Given the description of an element on the screen output the (x, y) to click on. 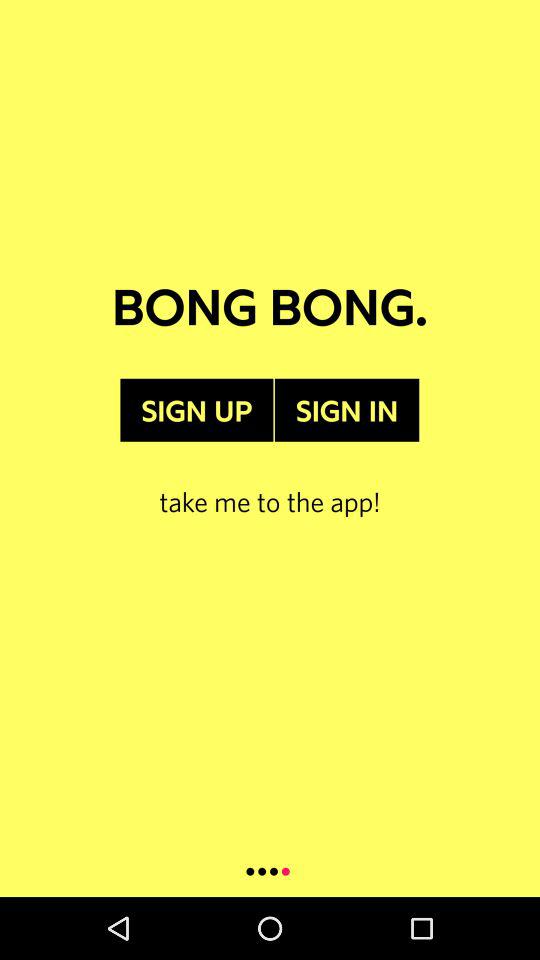
open icon above the take me to (196, 409)
